Given the description of an element on the screen output the (x, y) to click on. 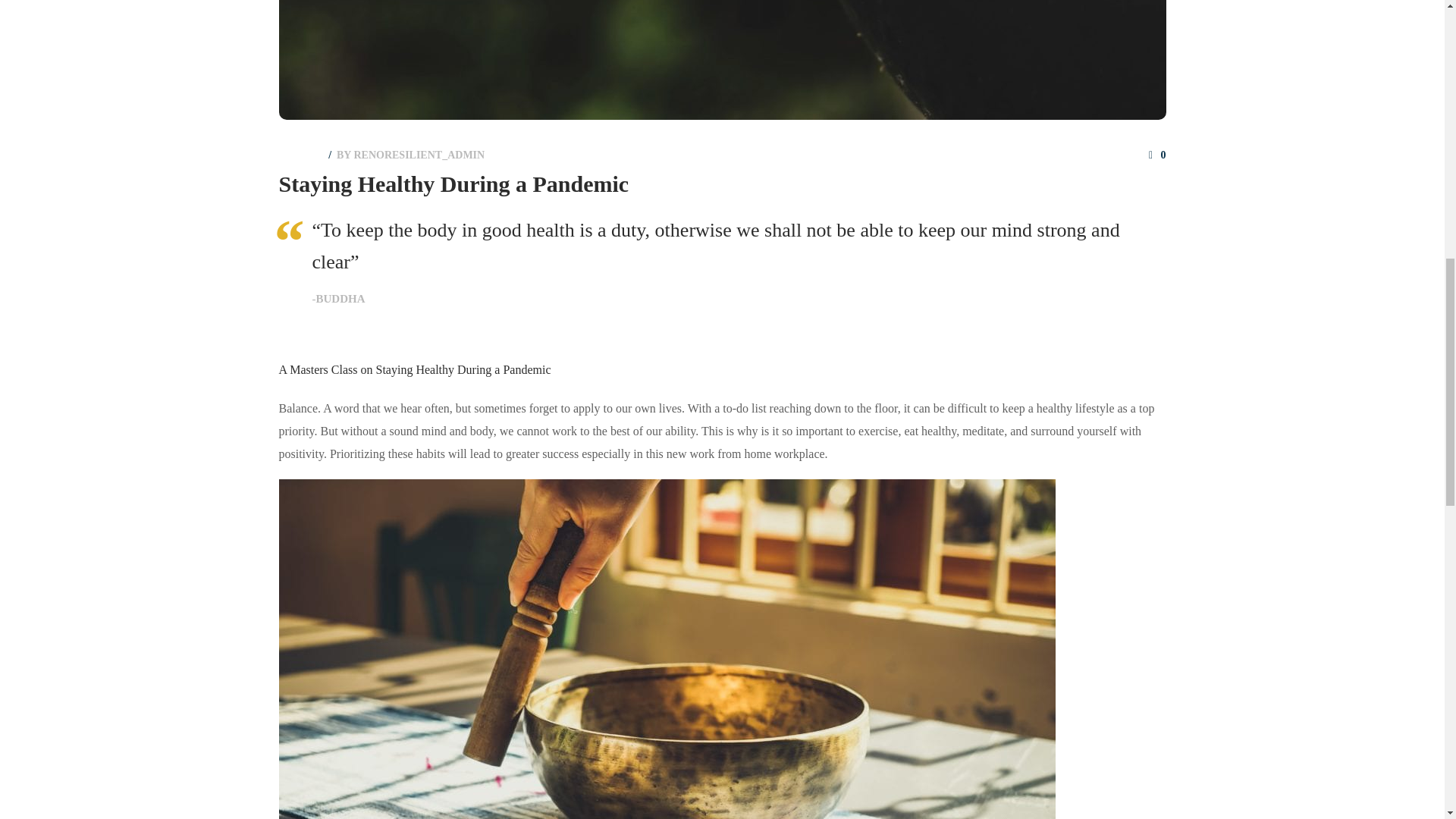
Leave a reply (1157, 154)
